Given the description of an element on the screen output the (x, y) to click on. 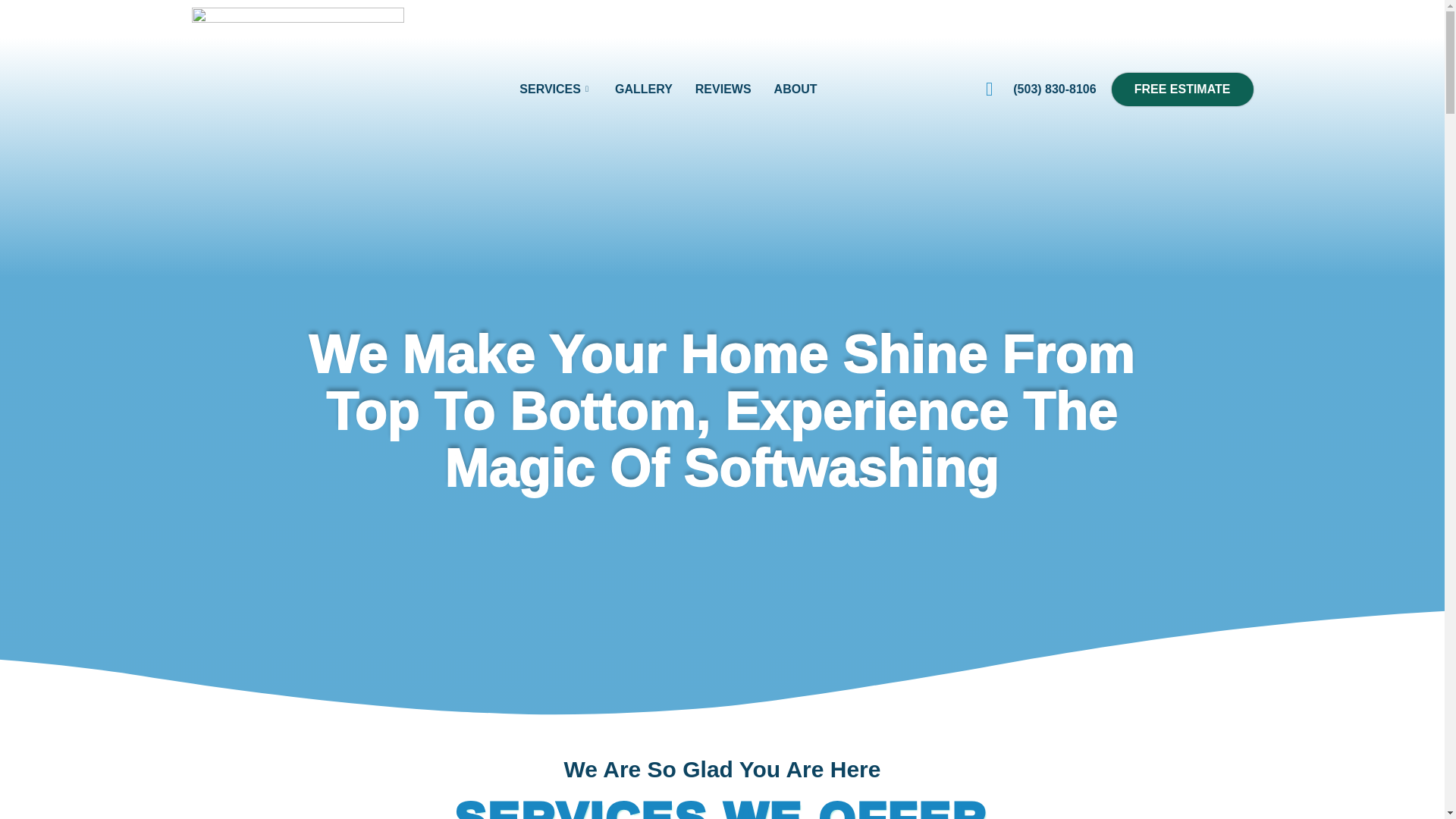
REVIEWS (723, 89)
FREE ESTIMATE (1182, 89)
SERVICES (556, 89)
GALLERY (644, 89)
